Given the description of an element on the screen output the (x, y) to click on. 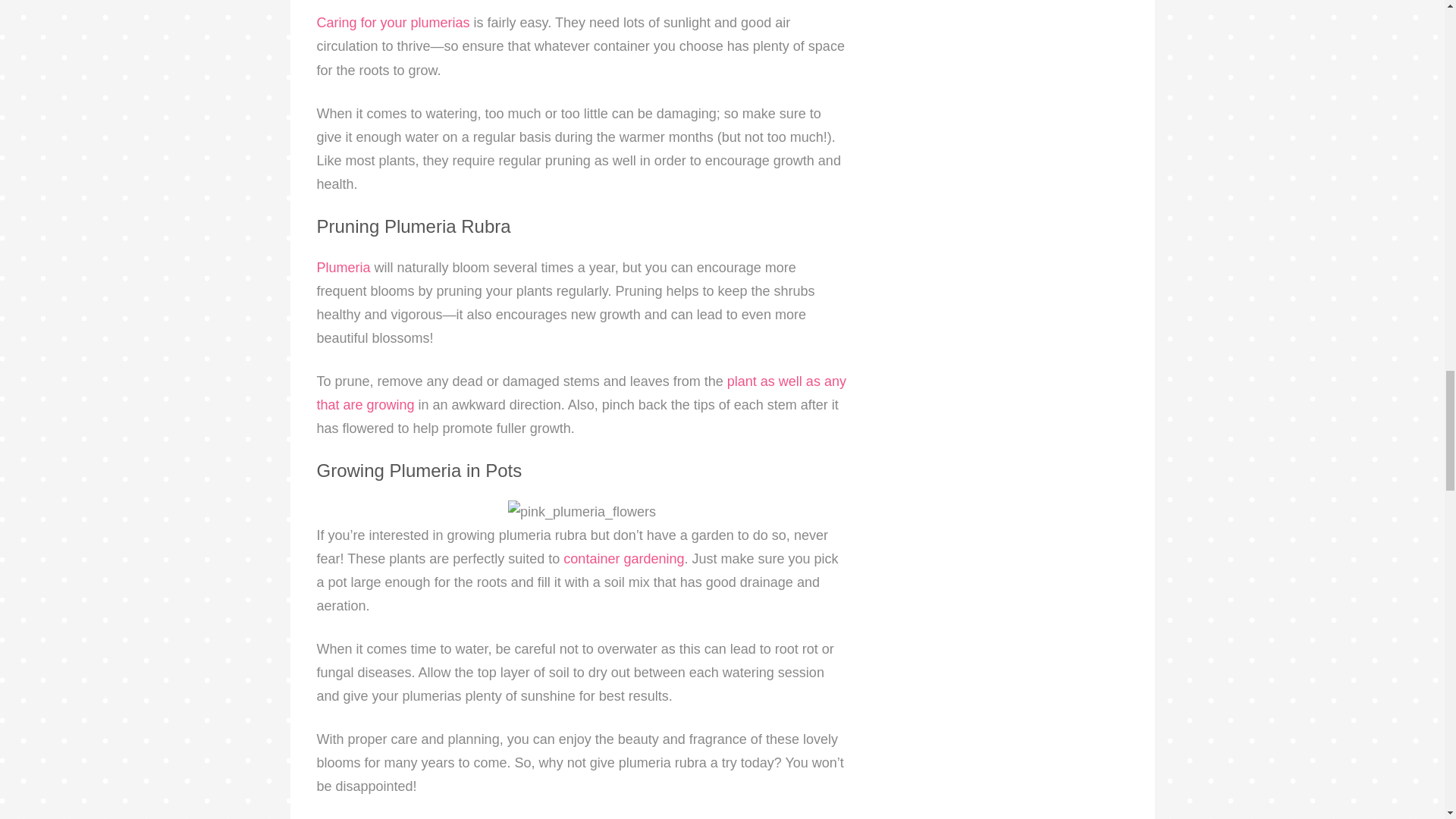
Plumeria (344, 267)
plant as well as any that are growing (581, 392)
container gardening (623, 558)
Caring for your plumerias (393, 22)
